Given the description of an element on the screen output the (x, y) to click on. 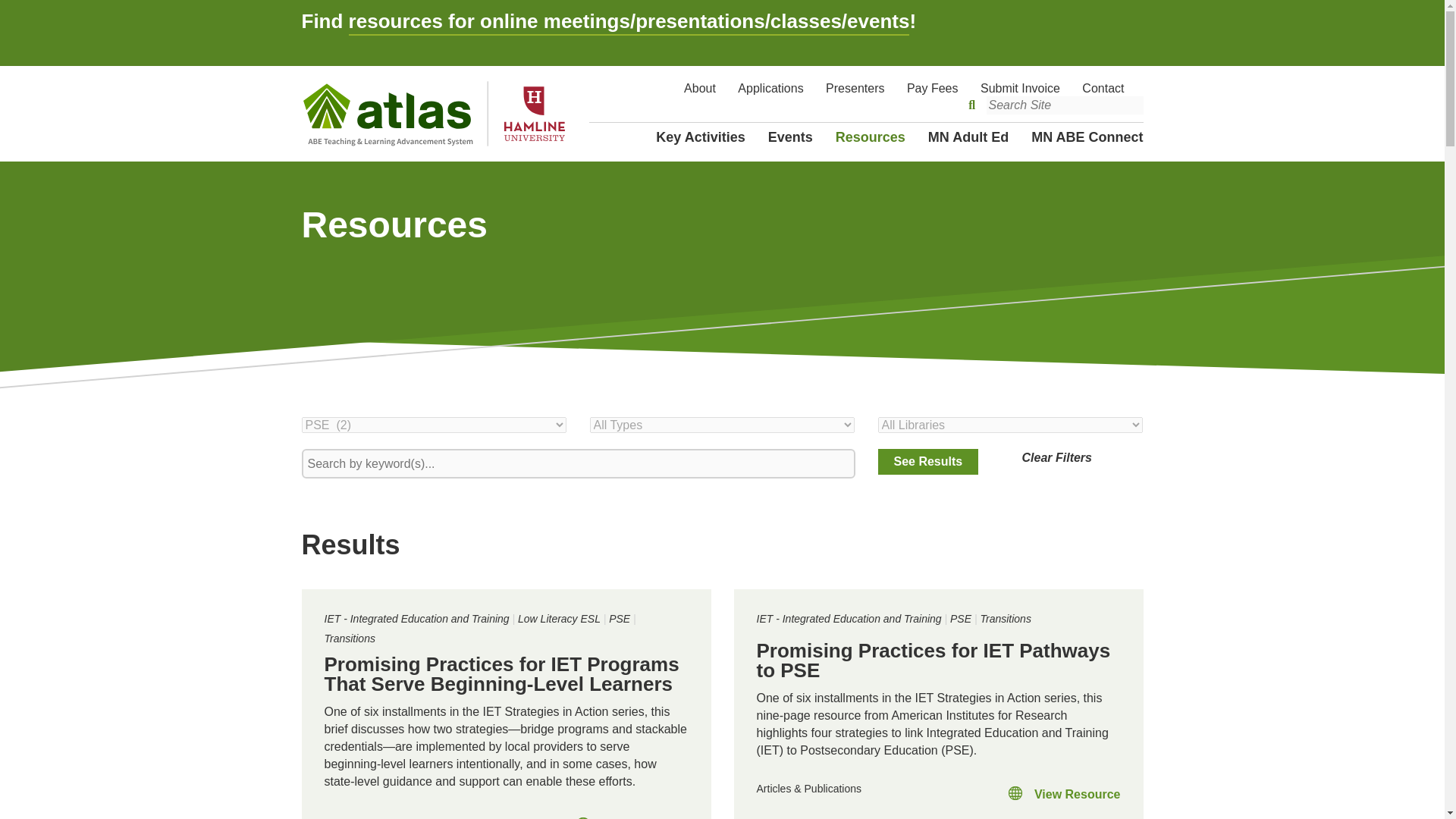
Low Literacy ESL (558, 618)
Resources (870, 136)
Clear Filters (1082, 457)
About (700, 88)
PSE (960, 618)
See Results (927, 461)
Contact (1102, 88)
Promising Practices for IET Pathways to PSE (933, 660)
MN Adult Ed (968, 136)
View Resource (1063, 796)
